Given the description of an element on the screen output the (x, y) to click on. 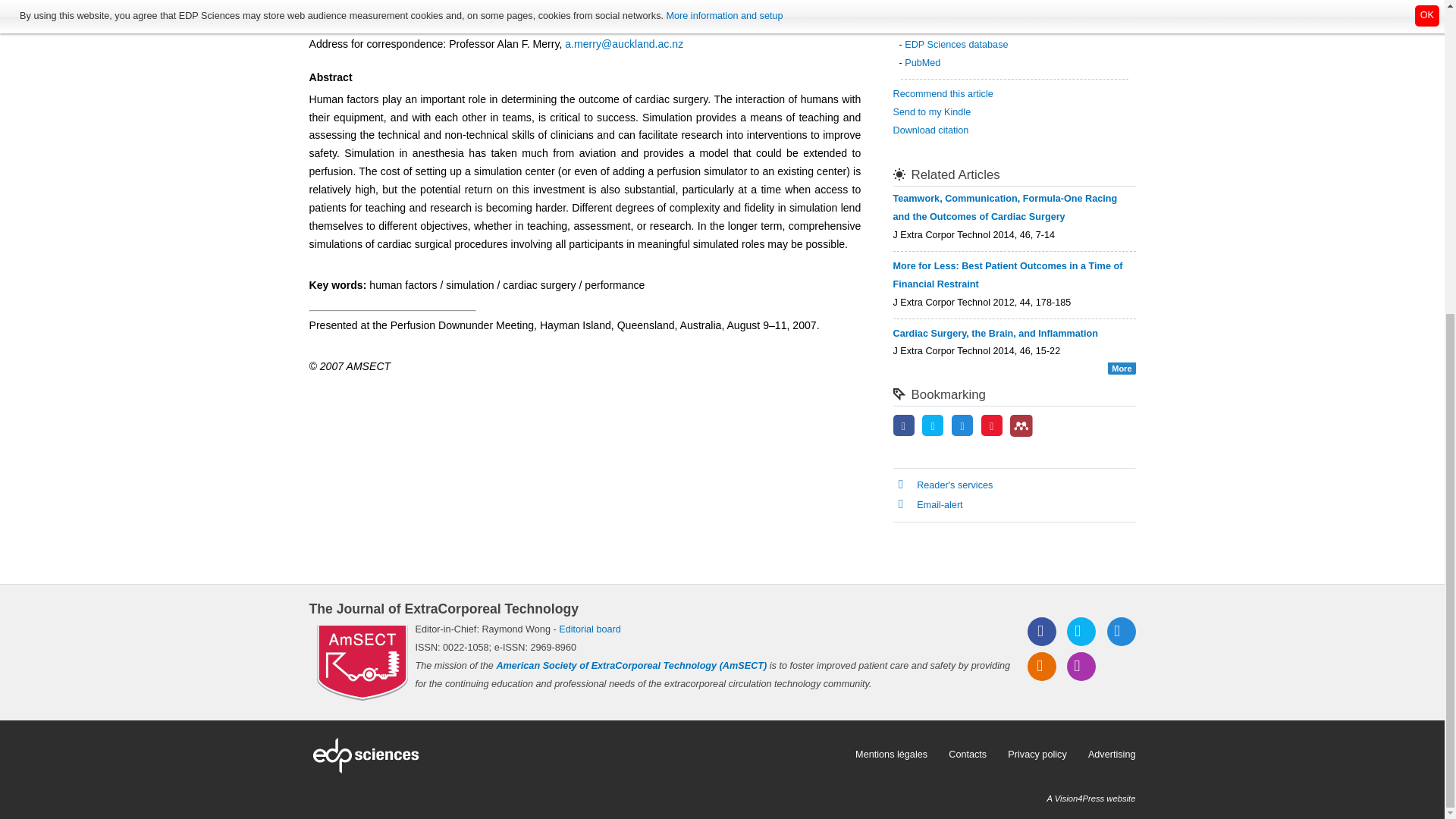
Share on Sina Weibo (992, 426)
Follow us on Twitter (1081, 631)
Add this article to your Mendeley library (1021, 433)
Access our RSS feeds (1042, 665)
Share on LinkedIn (962, 426)
Register to the journal email alert (1081, 665)
EDP Sciences website (576, 754)
Mendeley (1021, 425)
Follow us on Facebook (1042, 631)
Share on Facebook (903, 426)
